Given the description of an element on the screen output the (x, y) to click on. 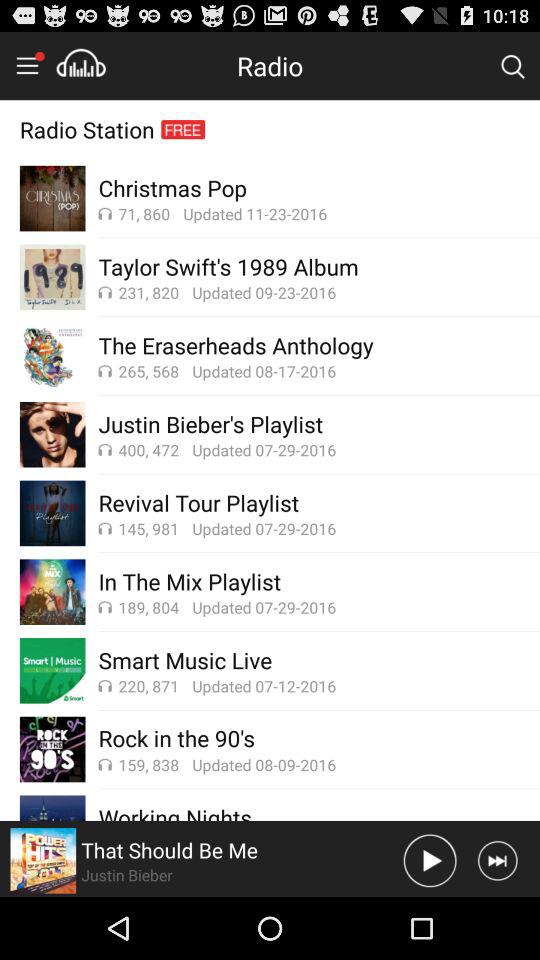
more info on song (43, 860)
